Given the description of an element on the screen output the (x, y) to click on. 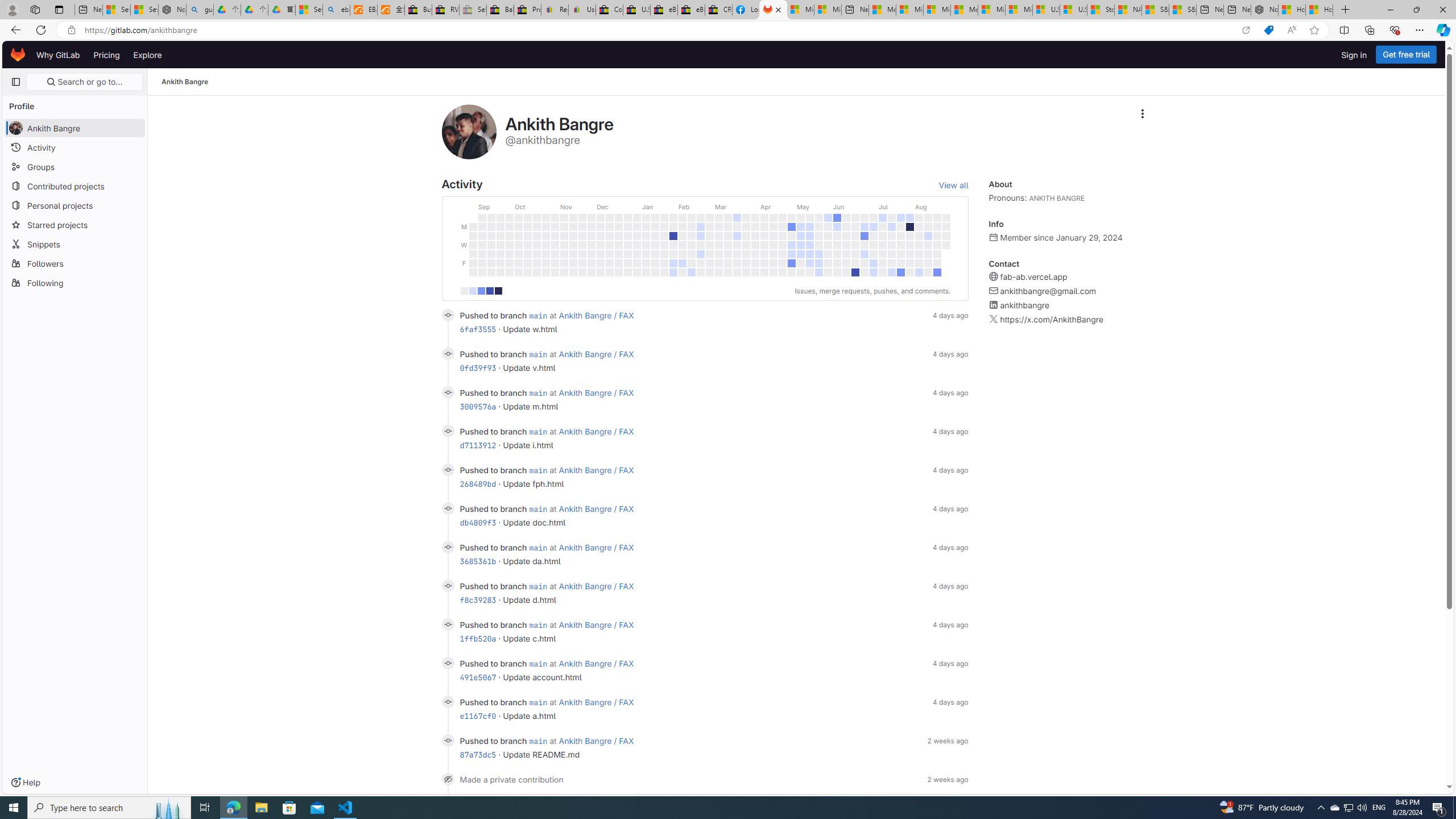
Workspaces (34, 9)
268489bd (478, 483)
Ankith Bangre (184, 81)
